Given the description of an element on the screen output the (x, y) to click on. 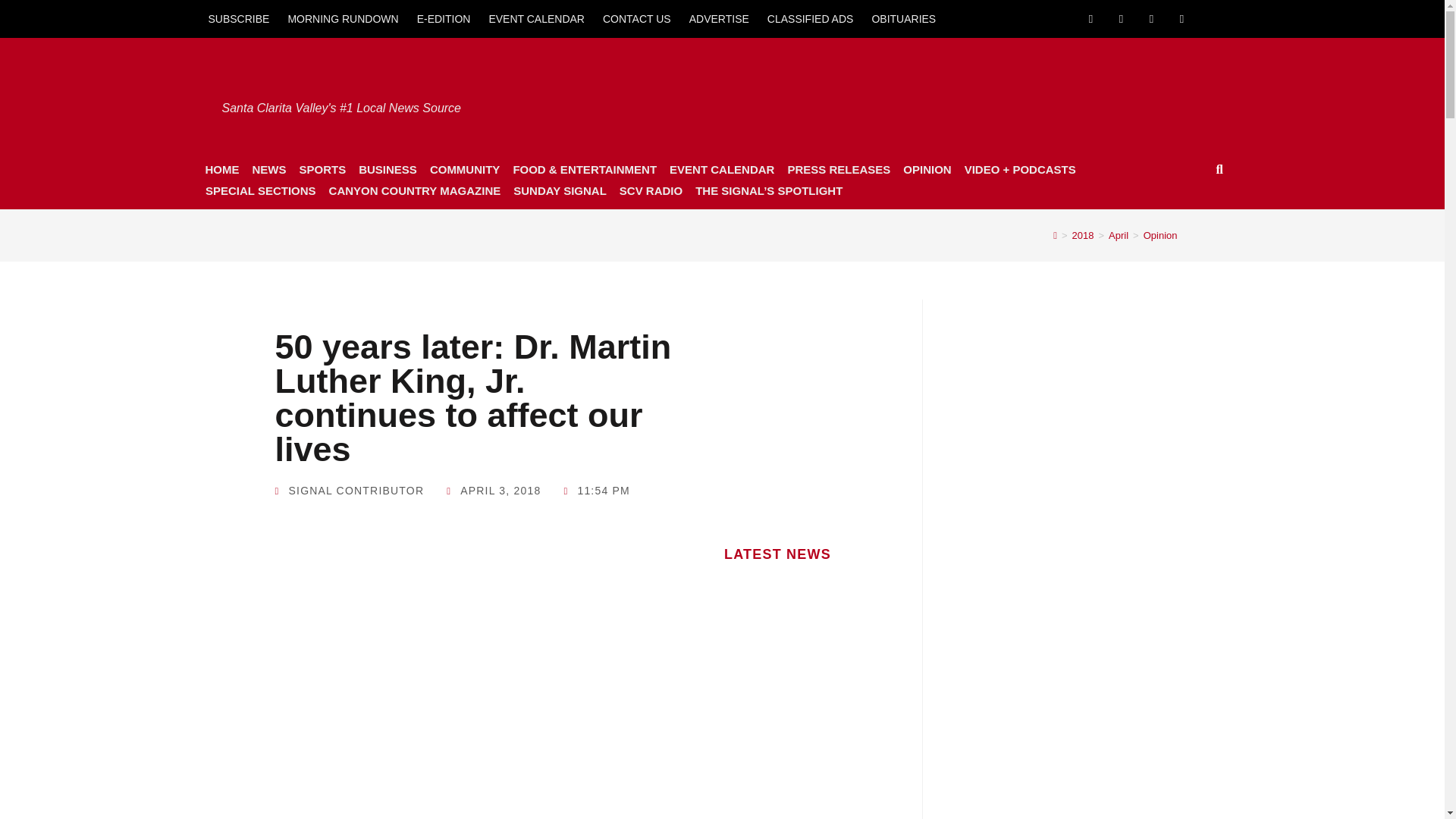
MORNING RUNDOWN (342, 18)
OBITUARIES (902, 18)
E-EDITION (443, 18)
SUBSCRIBE (238, 18)
EVENT CALENDAR (536, 18)
HOME (221, 169)
SPORTS (322, 169)
CONTACT US (636, 18)
NEWS (269, 169)
ADVERTISE (718, 18)
CLASSIFIED ADS (810, 18)
